Given the description of an element on the screen output the (x, y) to click on. 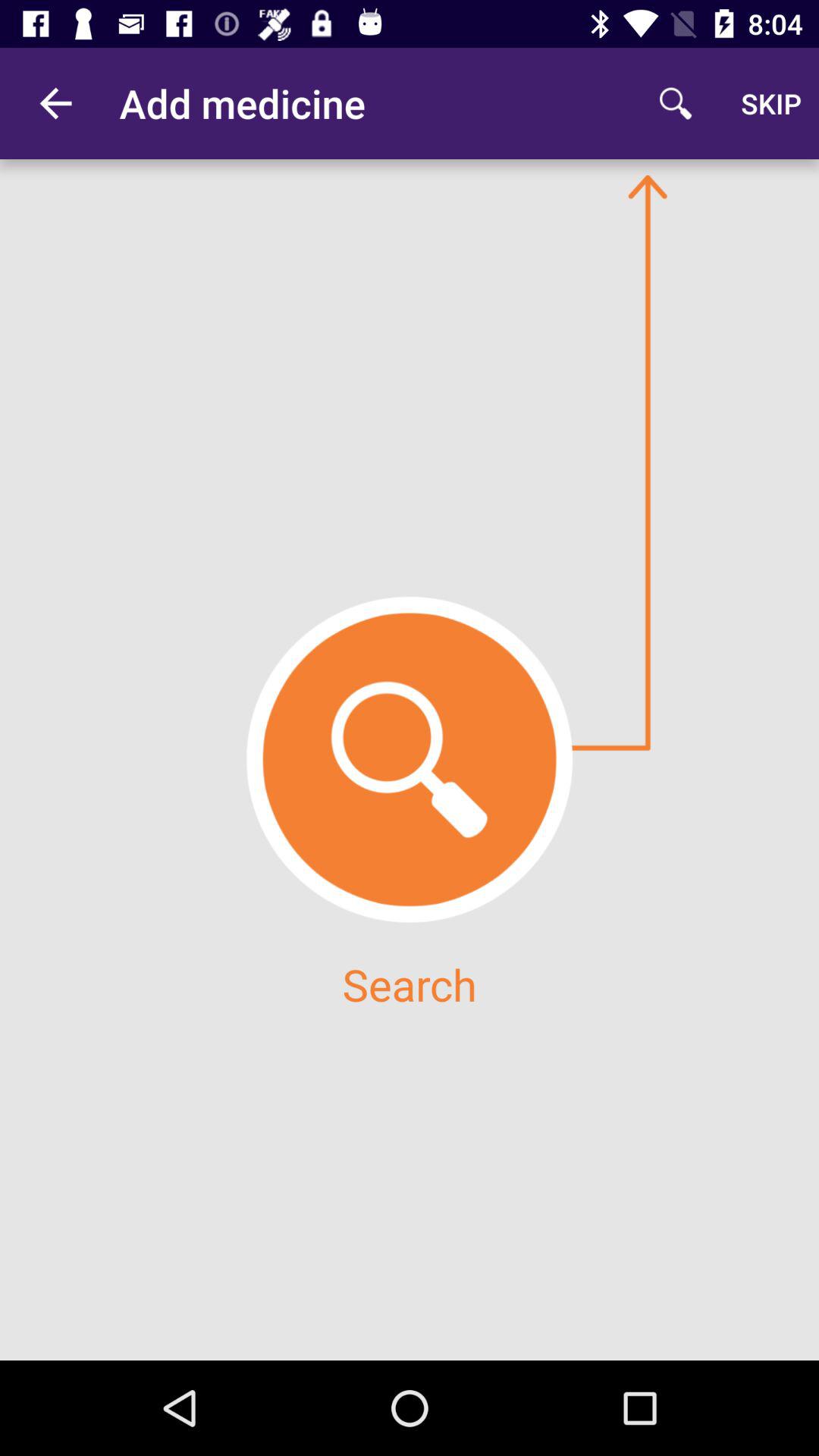
turn off skip item (771, 103)
